Given the description of an element on the screen output the (x, y) to click on. 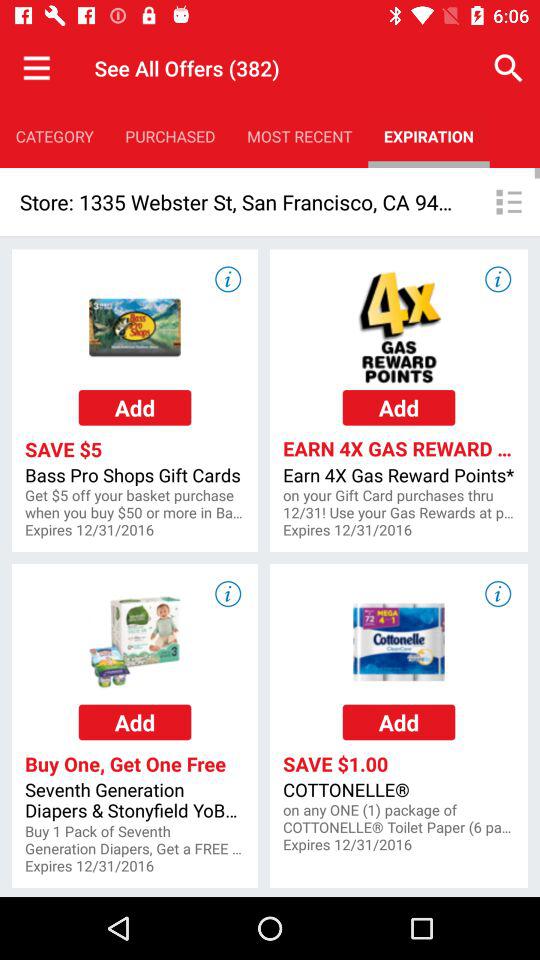
turn off the item next to seventh generation diapers app (398, 819)
